Given the description of an element on the screen output the (x, y) to click on. 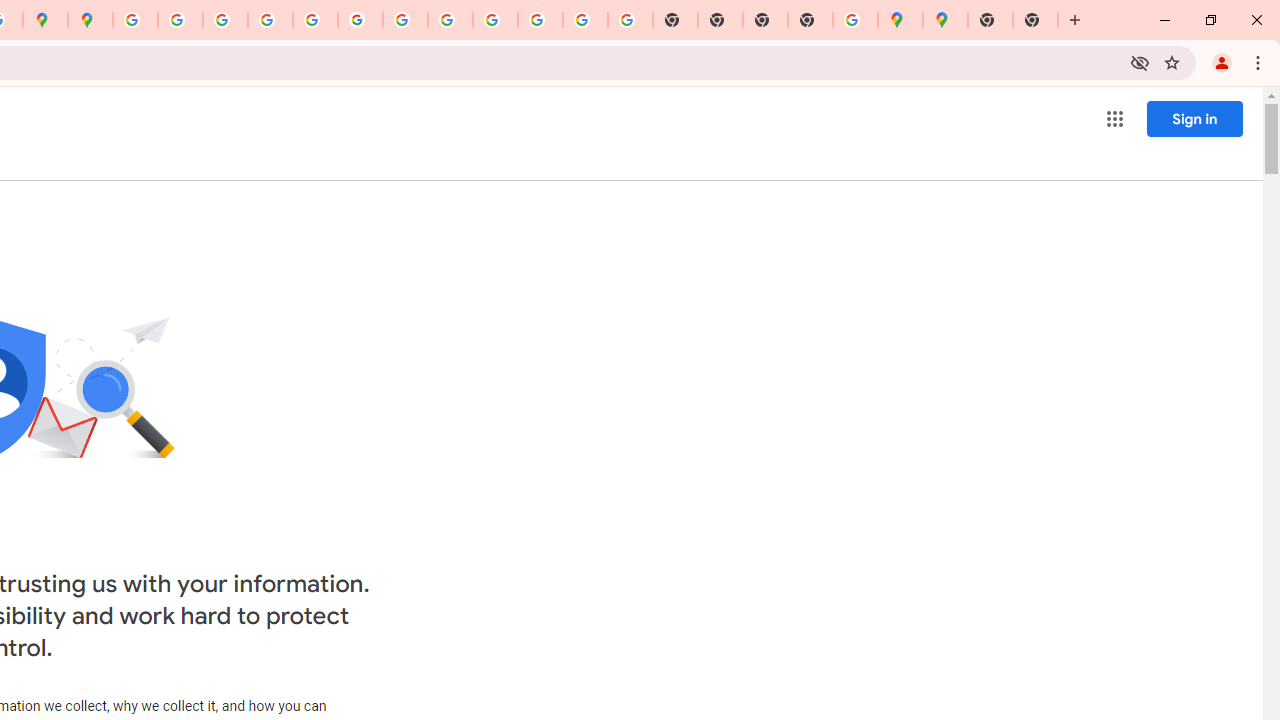
Google Maps (944, 20)
New Tab (989, 20)
Privacy Help Center - Policies Help (225, 20)
YouTube (404, 20)
Use Google Maps in Space - Google Maps Help (855, 20)
